Given the description of an element on the screen output the (x, y) to click on. 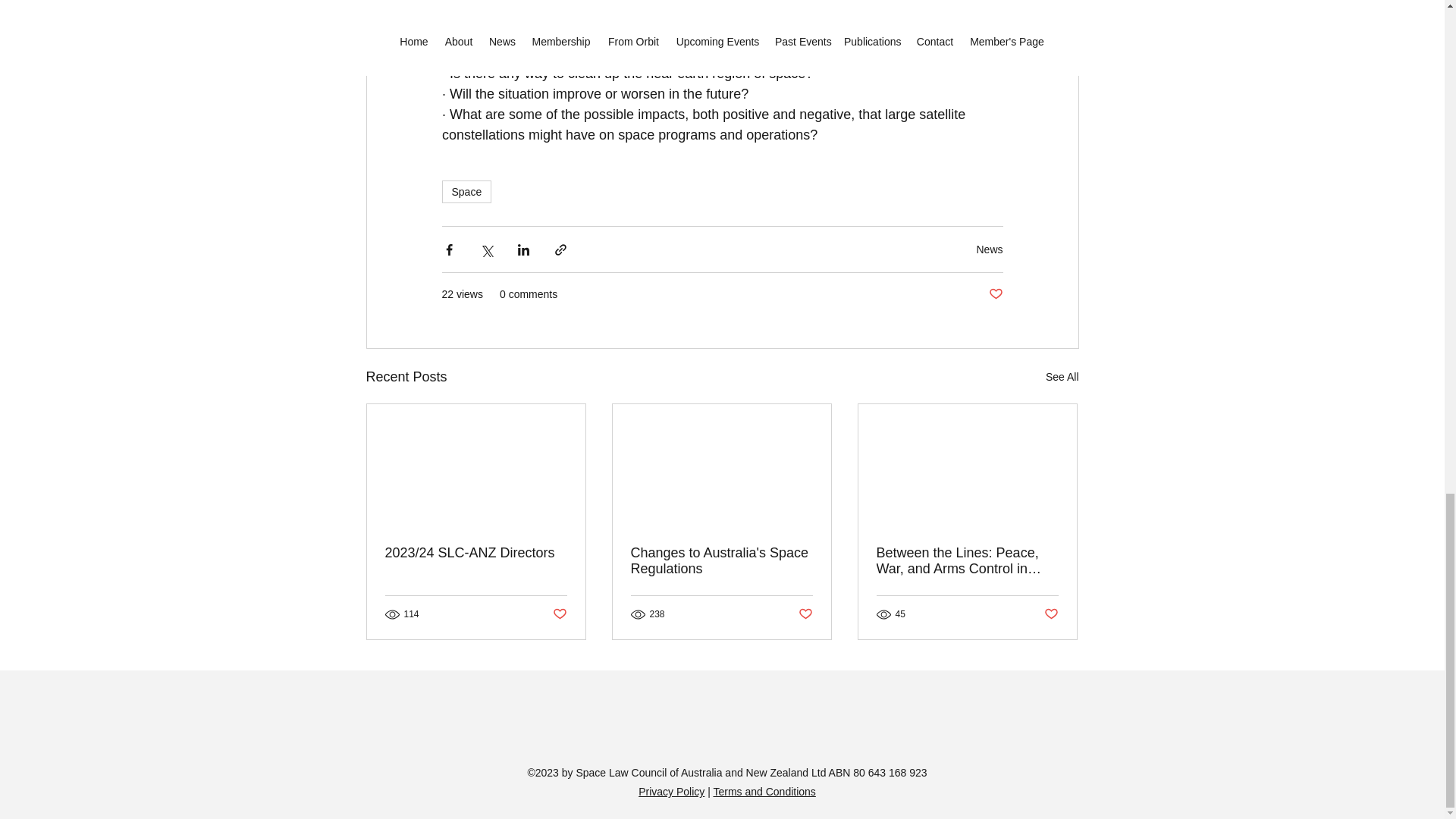
Terms and Conditions (764, 791)
See All (1061, 377)
Post not marked as liked (558, 614)
Post not marked as liked (804, 614)
Post not marked as liked (995, 294)
Space (466, 191)
Post not marked as liked (1050, 614)
Privacy Policy (671, 791)
News (989, 248)
Changes to Australia's Space Regulations (721, 561)
